Given the description of an element on the screen output the (x, y) to click on. 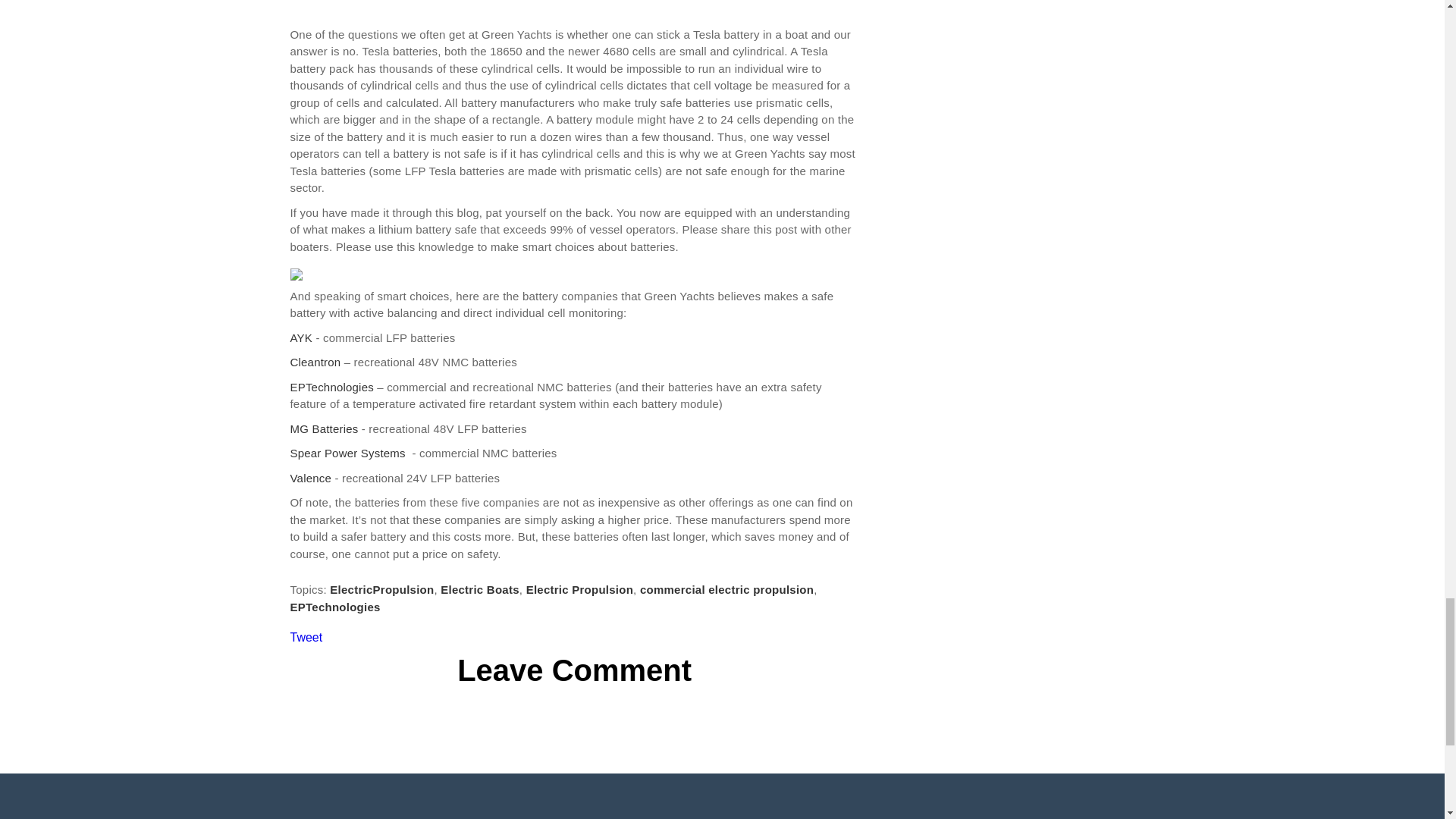
Electric Propulsion (579, 589)
Tweet (305, 636)
commercial electric propulsion (726, 589)
MG Batteries (323, 428)
Cleantron (314, 361)
ElectricPropulsion (381, 589)
EPTechnologies (330, 386)
Electric Boats (480, 589)
Valence (311, 477)
EPTechnologies (334, 606)
